Given the description of an element on the screen output the (x, y) to click on. 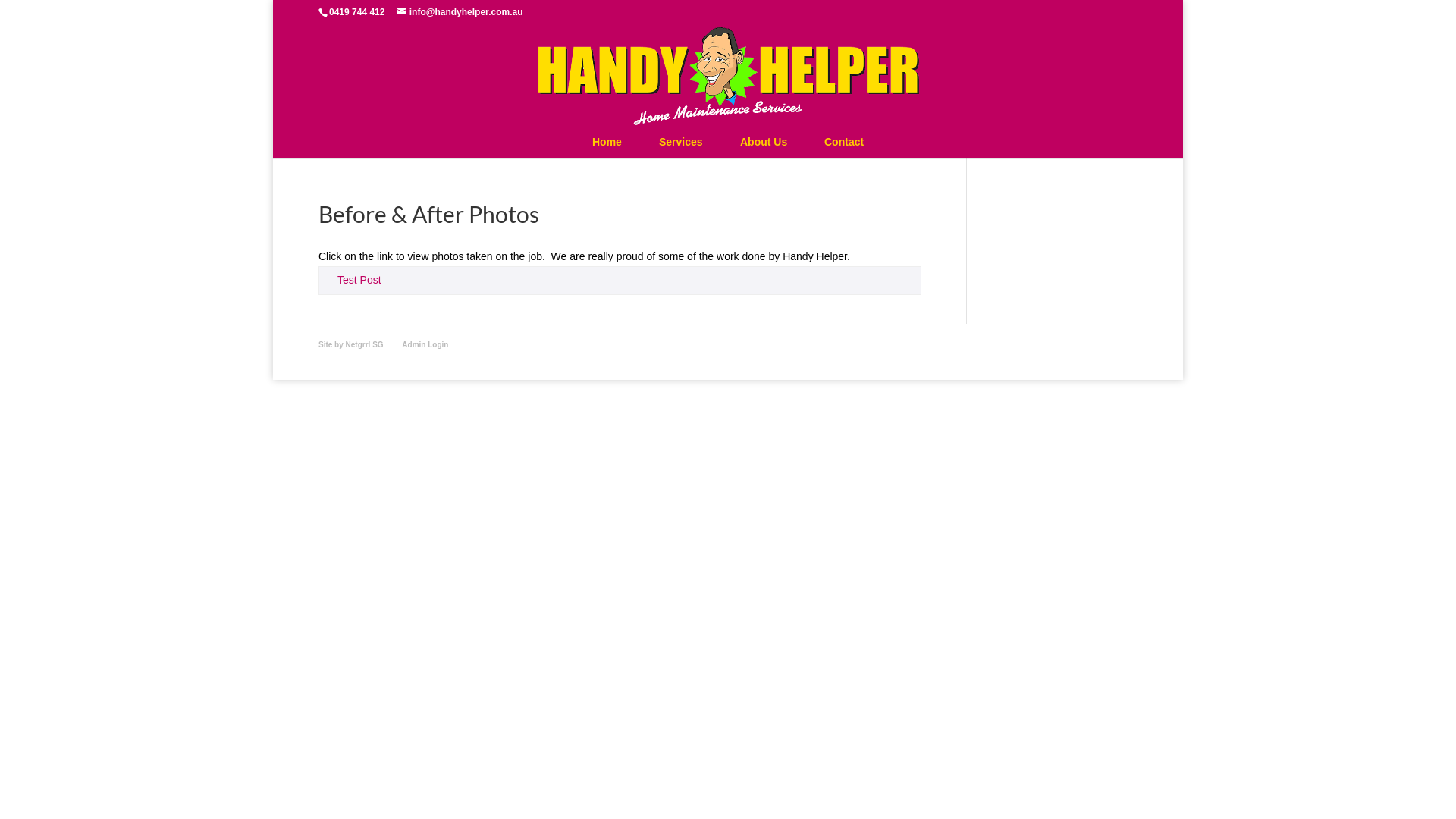
Contact Element type: text (843, 141)
Home Element type: text (606, 141)
Test Post Element type: text (359, 279)
info@handyhelper.com.au Element type: text (460, 11)
Site by Netgrrl SG Element type: text (350, 344)
About Us Element type: text (763, 141)
Services Element type: text (680, 141)
Admin Login Element type: text (424, 344)
0419 744 412 Element type: text (356, 11)
